Given the description of an element on the screen output the (x, y) to click on. 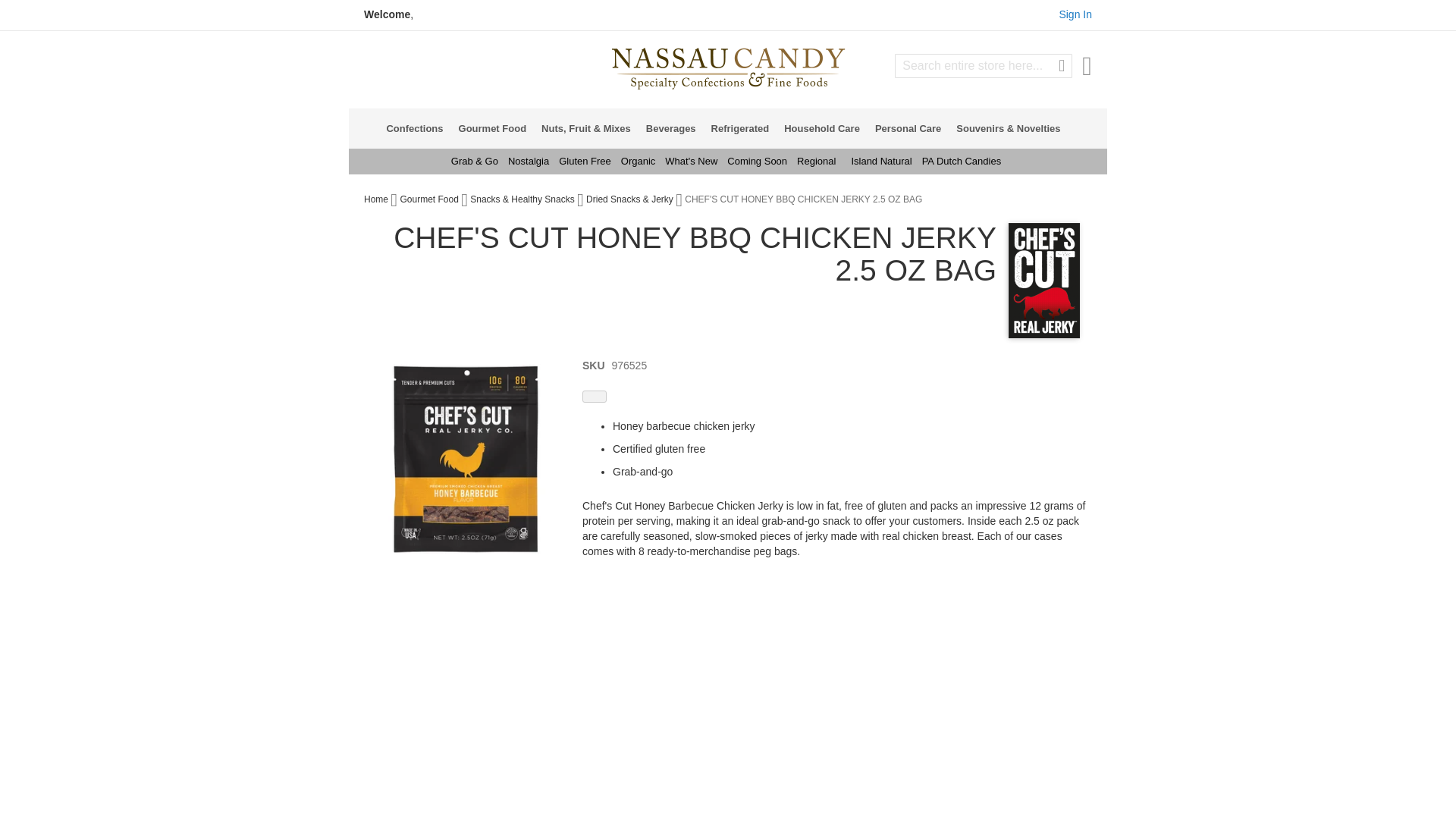
Confections (418, 128)
Sign In (1075, 14)
Go to Home Page (377, 199)
Gourmet Food (496, 128)
